Given the description of an element on the screen output the (x, y) to click on. 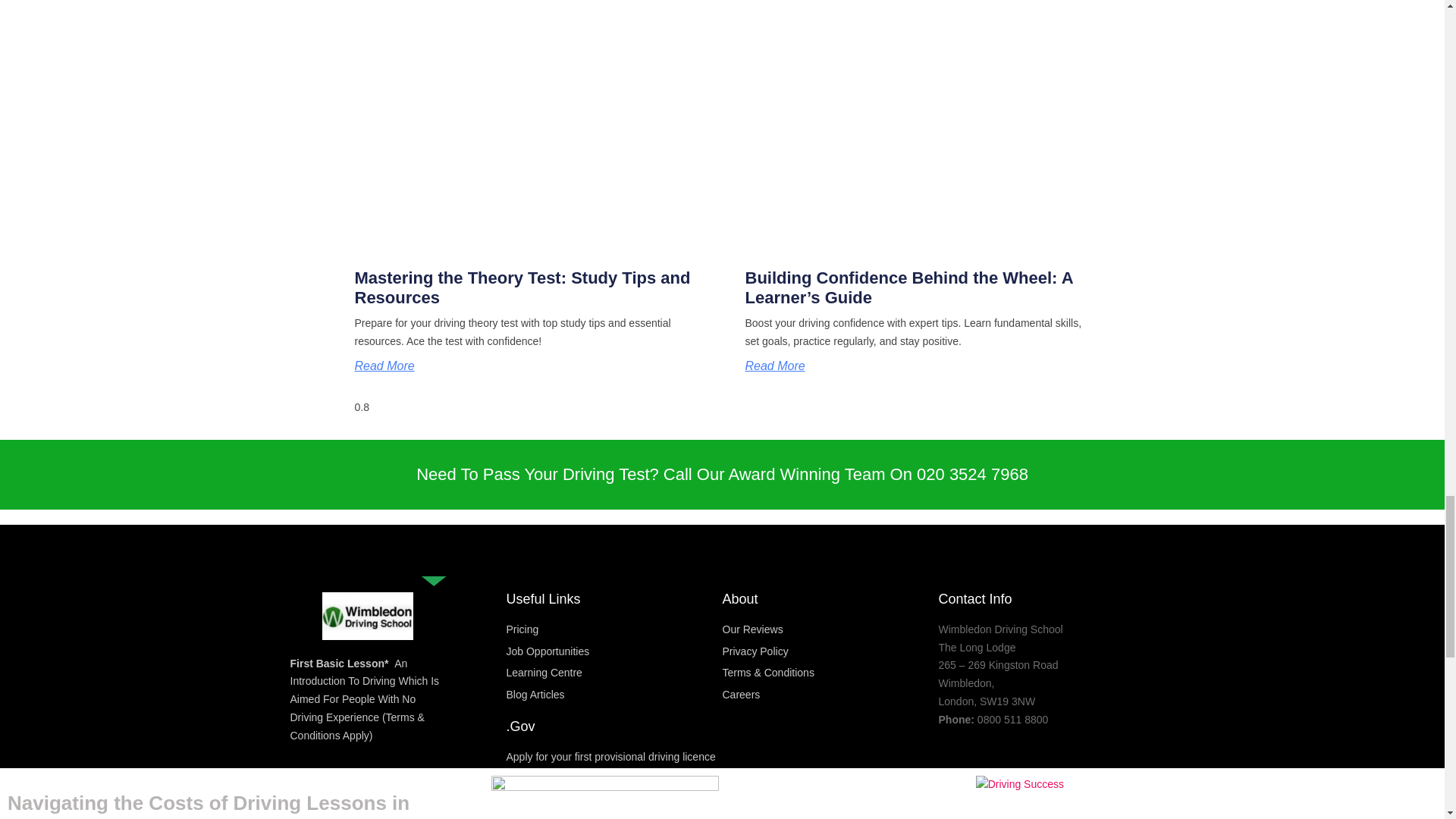
Pricing (614, 629)
Learning Centre (614, 673)
Read More (774, 365)
Privacy Policy (829, 651)
Mastering the Theory Test: Study Tips and Resources (522, 287)
Blog Articles (614, 695)
Careers (829, 695)
Navigating the Costs of Driving Lessons in South West London (208, 805)
Read More (384, 365)
Apply for your first provisional driving licence (614, 757)
